Given the description of an element on the screen output the (x, y) to click on. 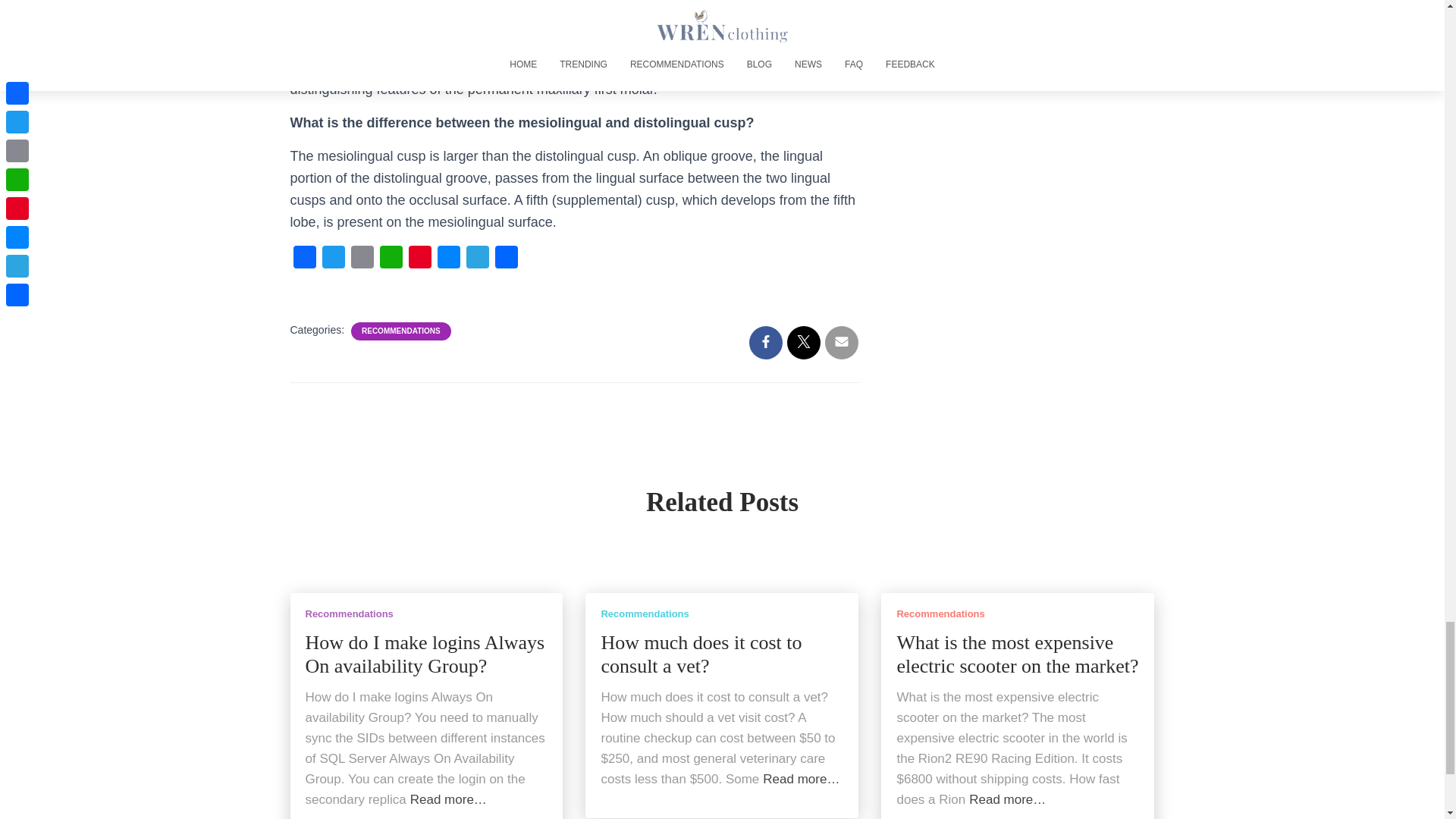
Recommendations (348, 613)
Email (361, 260)
WhatsApp (389, 260)
Facebook (303, 260)
Telegram (477, 260)
How do I make logins Always On availability Group? (424, 654)
Pinterest (418, 260)
RECOMMENDATIONS (400, 330)
Messenger (448, 260)
Share (505, 260)
